Given the description of an element on the screen output the (x, y) to click on. 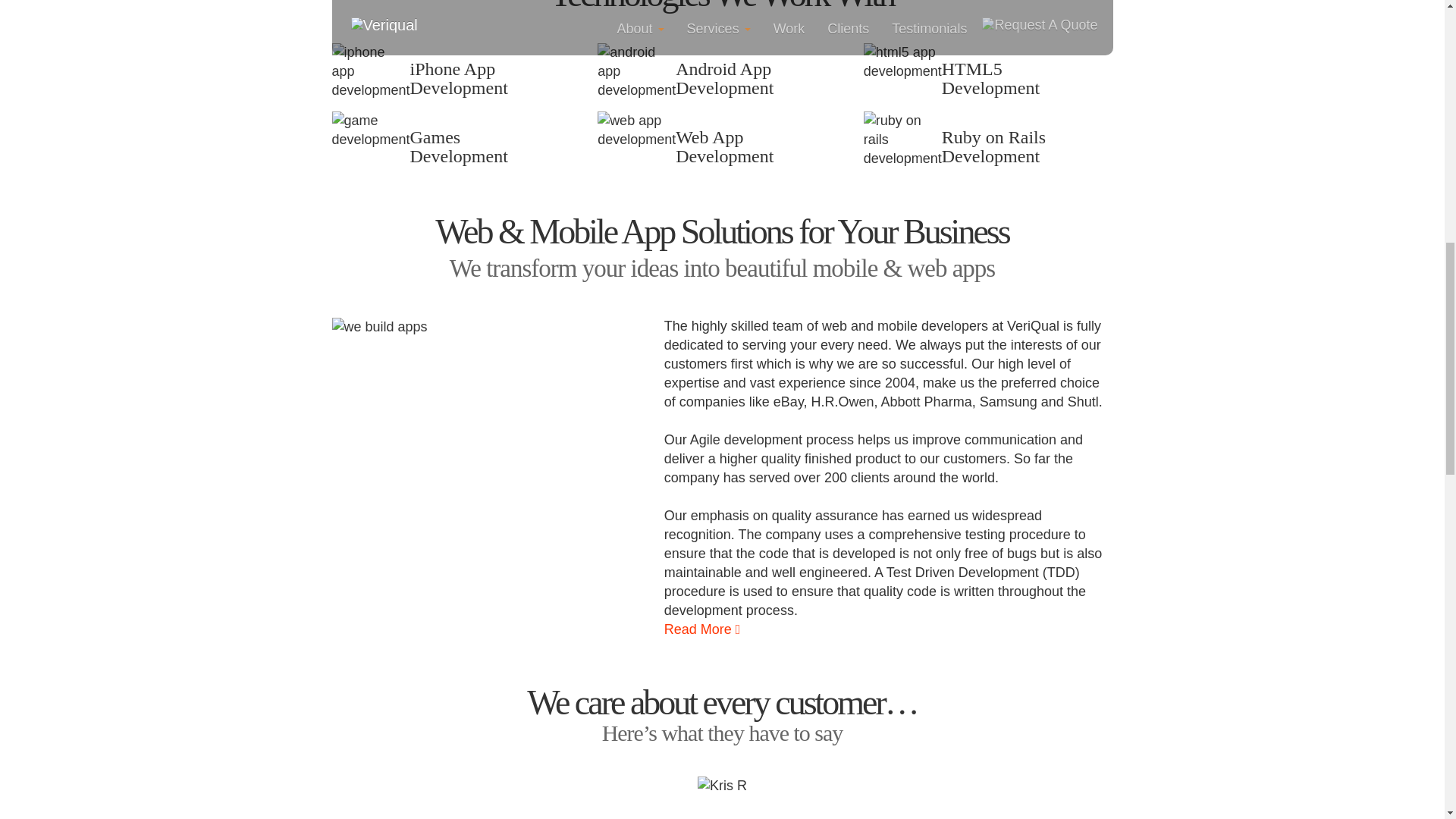
Game Development (370, 130)
Android App Development (635, 71)
Web App Development (635, 130)
Ruby on Rails Development (902, 139)
Html5 App Development (902, 62)
Read More (702, 629)
iPhone App Development (370, 71)
